Given the description of an element on the screen output the (x, y) to click on. 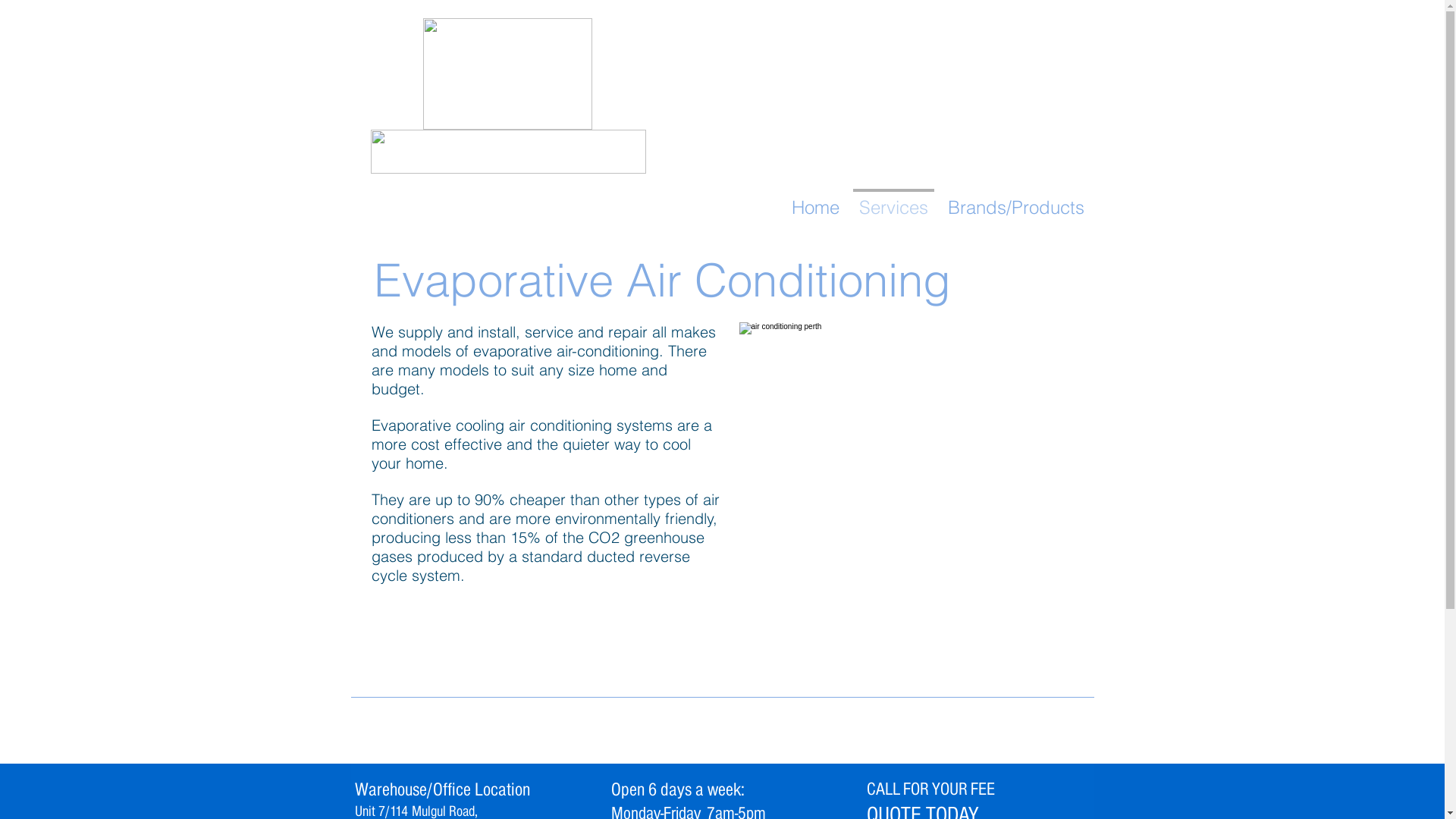
Home Element type: text (814, 200)
Brands/Products Element type: text (1015, 200)
Services Element type: text (893, 200)
air conditioning perth Element type: hover (915, 454)
Monogram only.jpg Element type: hover (507, 73)
